Given the description of an element on the screen output the (x, y) to click on. 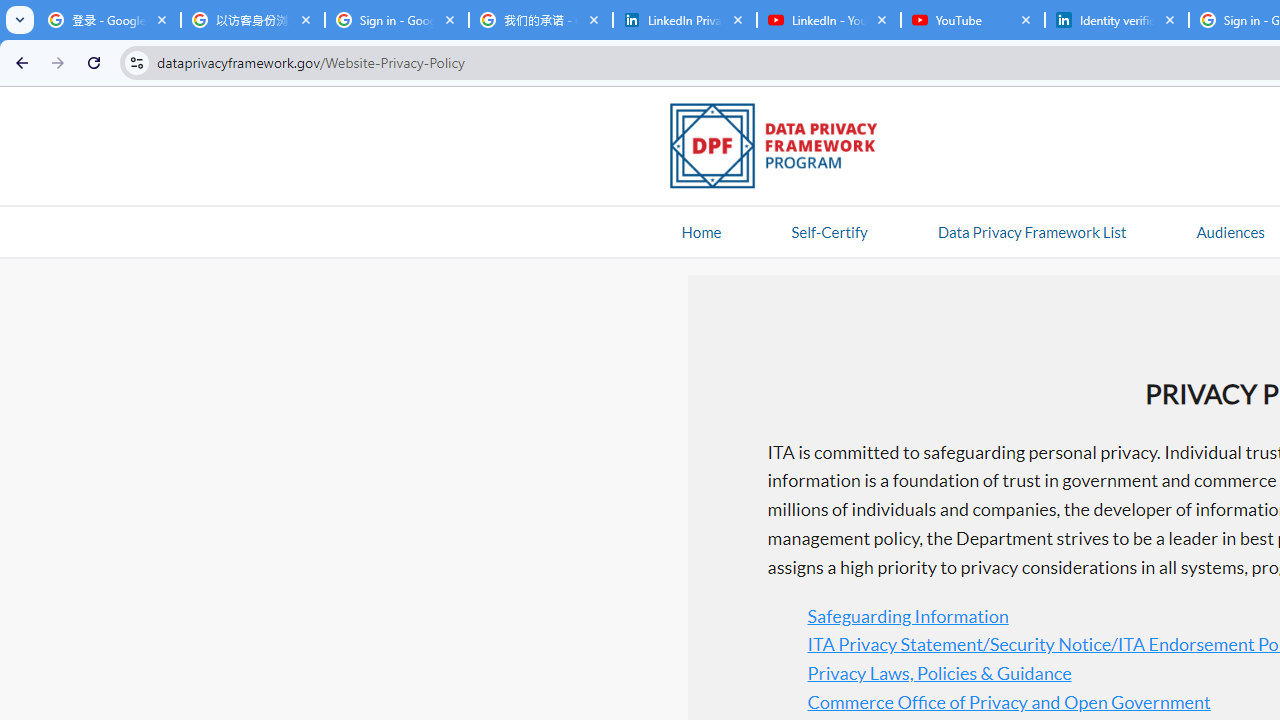
Privacy Laws, Policies & Guidance (939, 672)
LinkedIn Privacy Policy (684, 20)
Audiences (1230, 231)
YouTube (972, 20)
LinkedIn - YouTube (828, 20)
AutomationID: navitem (1230, 231)
Sign in - Google Accounts (396, 20)
Data Privacy Framework Logo - Link to Homepage (783, 149)
Data Privacy Framework List (1031, 231)
